Given the description of an element on the screen output the (x, y) to click on. 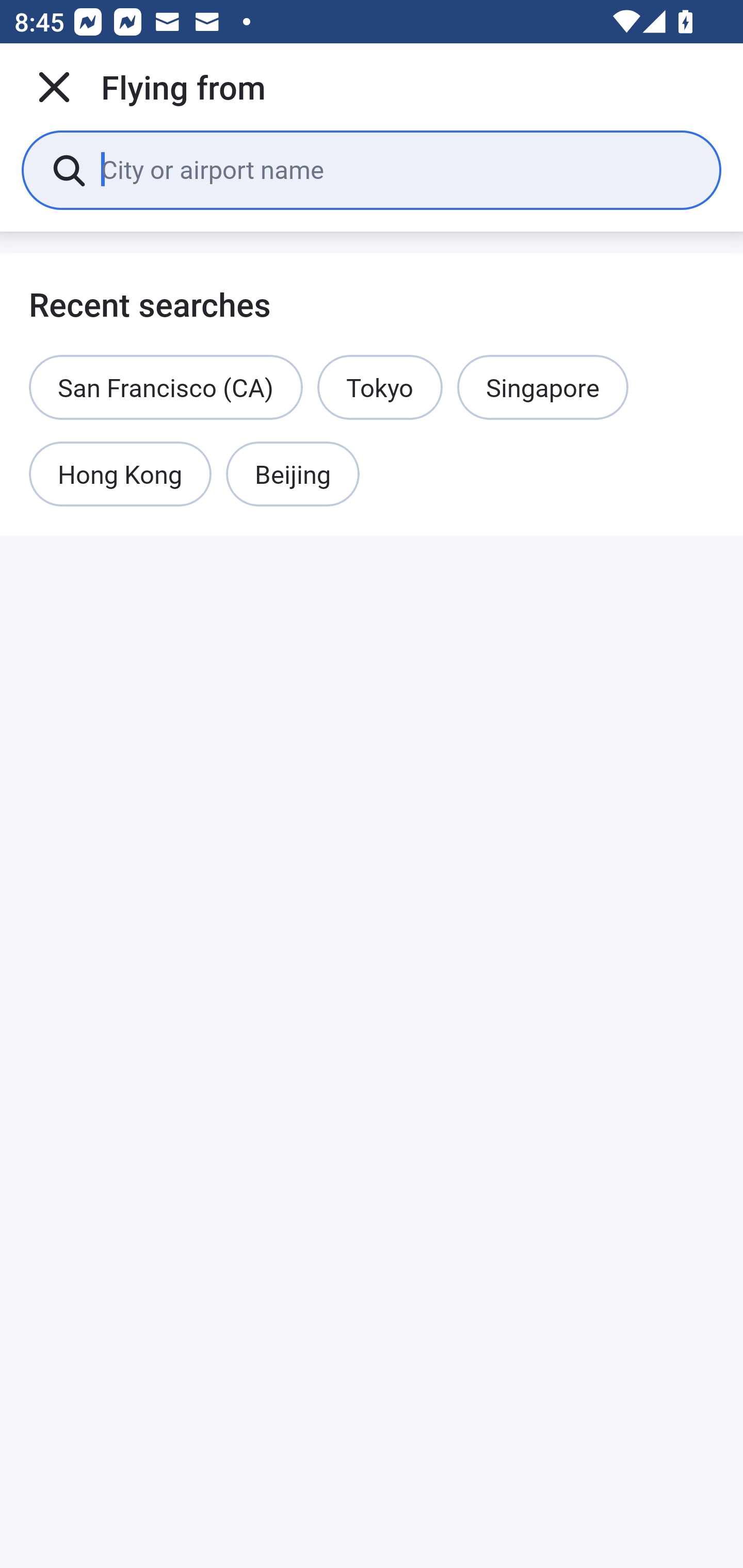
City or airport name (396, 169)
San Francisco (CA) (165, 387)
Tokyo (379, 387)
Singapore (542, 387)
Hong Kong (119, 474)
Beijing (292, 474)
